Given the description of an element on the screen output the (x, y) to click on. 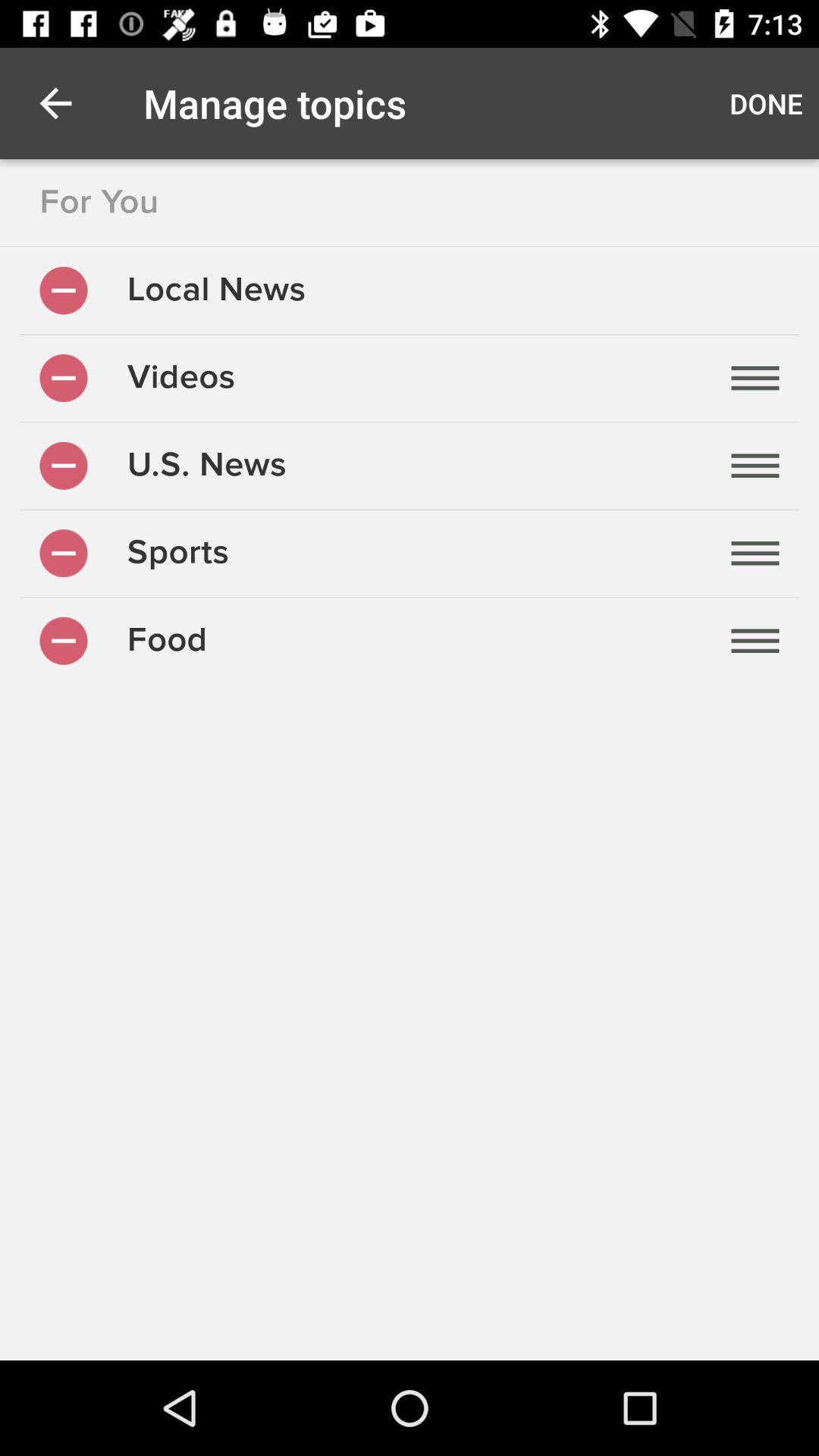
launch item above for you item (55, 103)
